Given the description of an element on the screen output the (x, y) to click on. 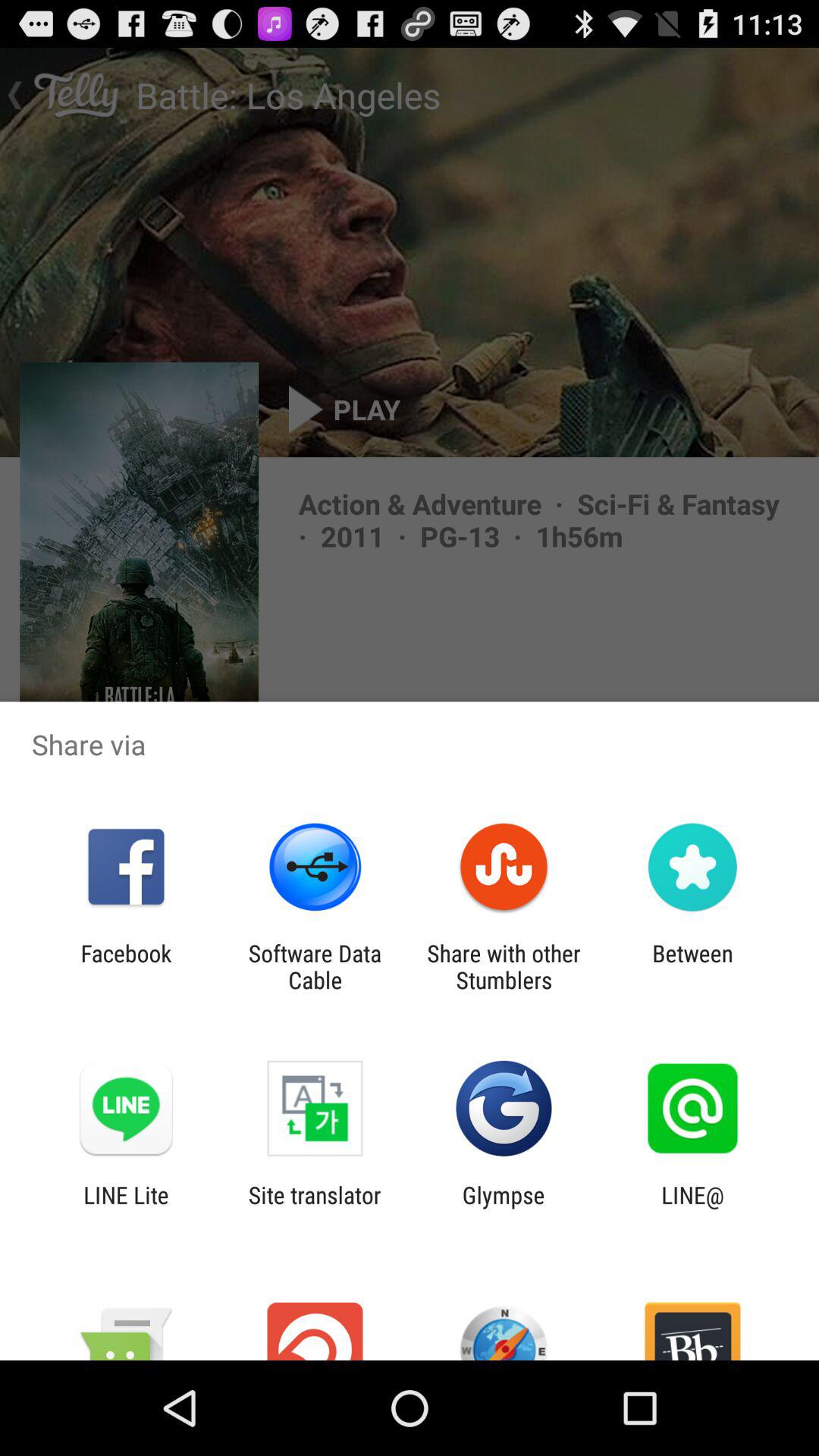
scroll until the facebook item (125, 966)
